Given the description of an element on the screen output the (x, y) to click on. 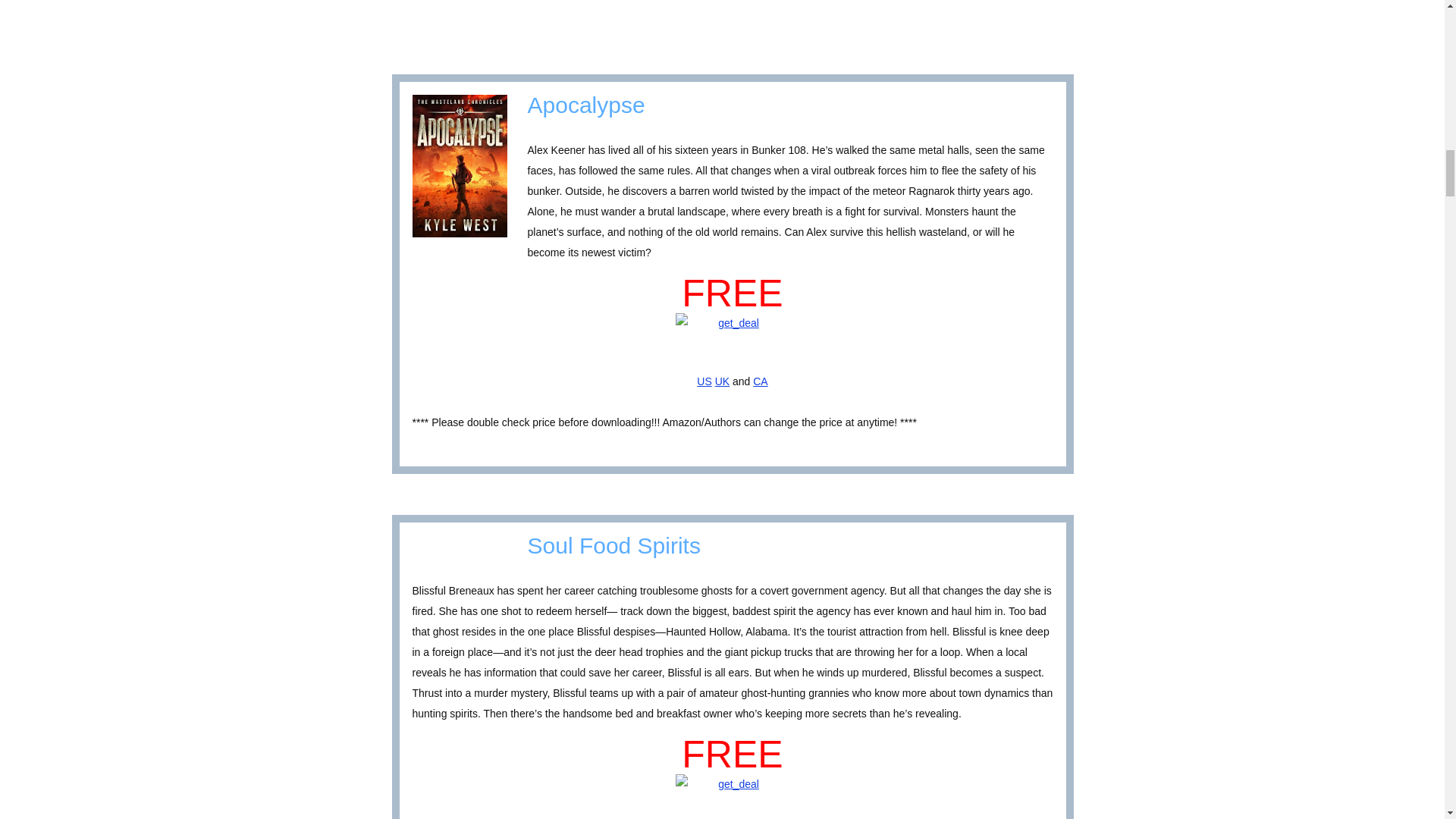
CA (759, 381)
US (704, 381)
UK (721, 381)
